Given the description of an element on the screen output the (x, y) to click on. 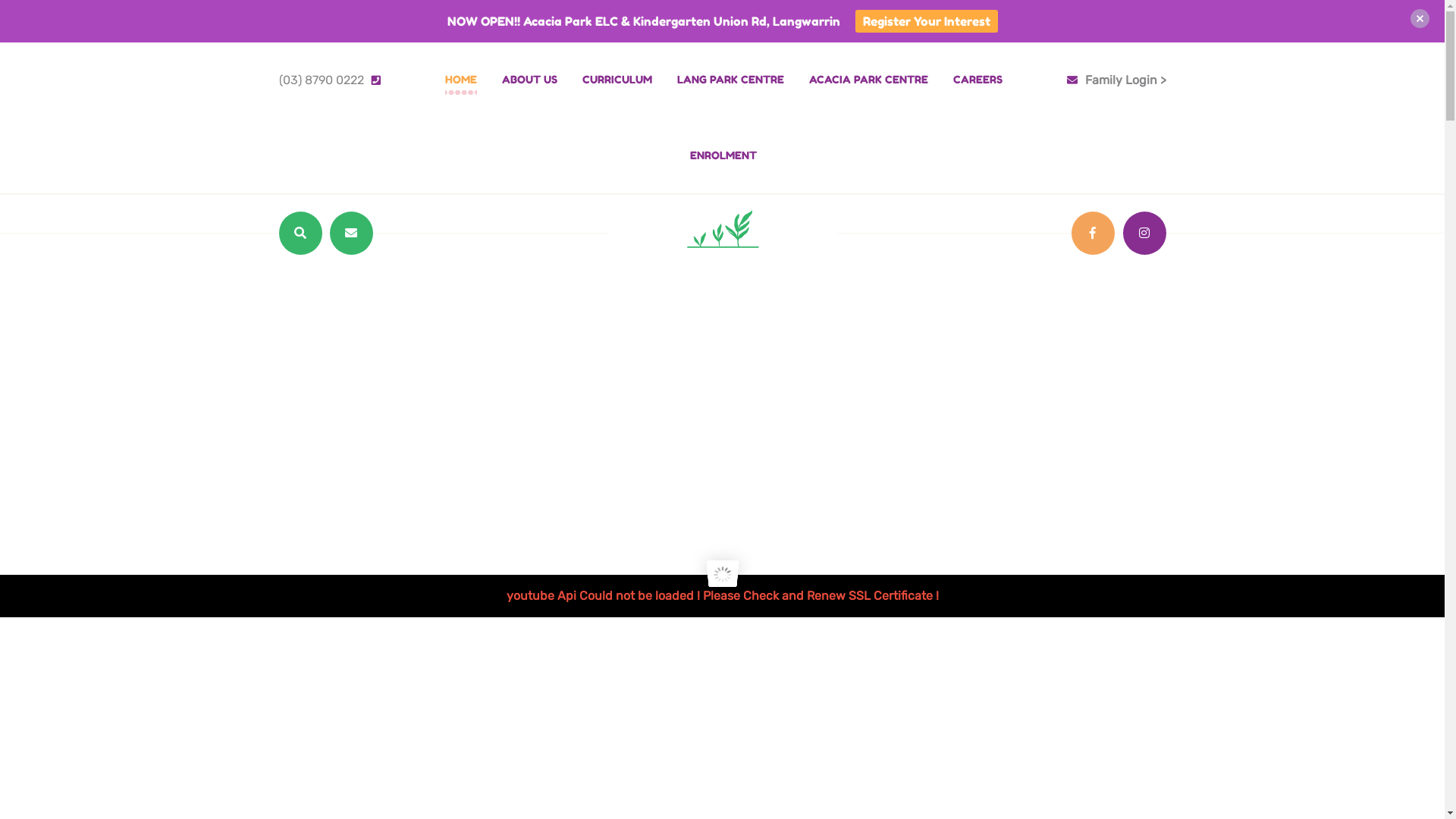
(03) 8790 0222 Element type: text (333, 80)
ACACIA PARK CENTRE Element type: text (867, 79)
ENROLMENT Element type: text (723, 155)
CAREERS Element type: text (976, 79)
HOME Element type: text (460, 79)
Register Your Interest Element type: text (926, 20)
Family Login > Element type: text (1124, 80)
CURRICULUM Element type: text (617, 79)
ABOUT US Element type: text (529, 79)
LANG PARK CENTRE Element type: text (729, 79)
